Given the description of an element on the screen output the (x, y) to click on. 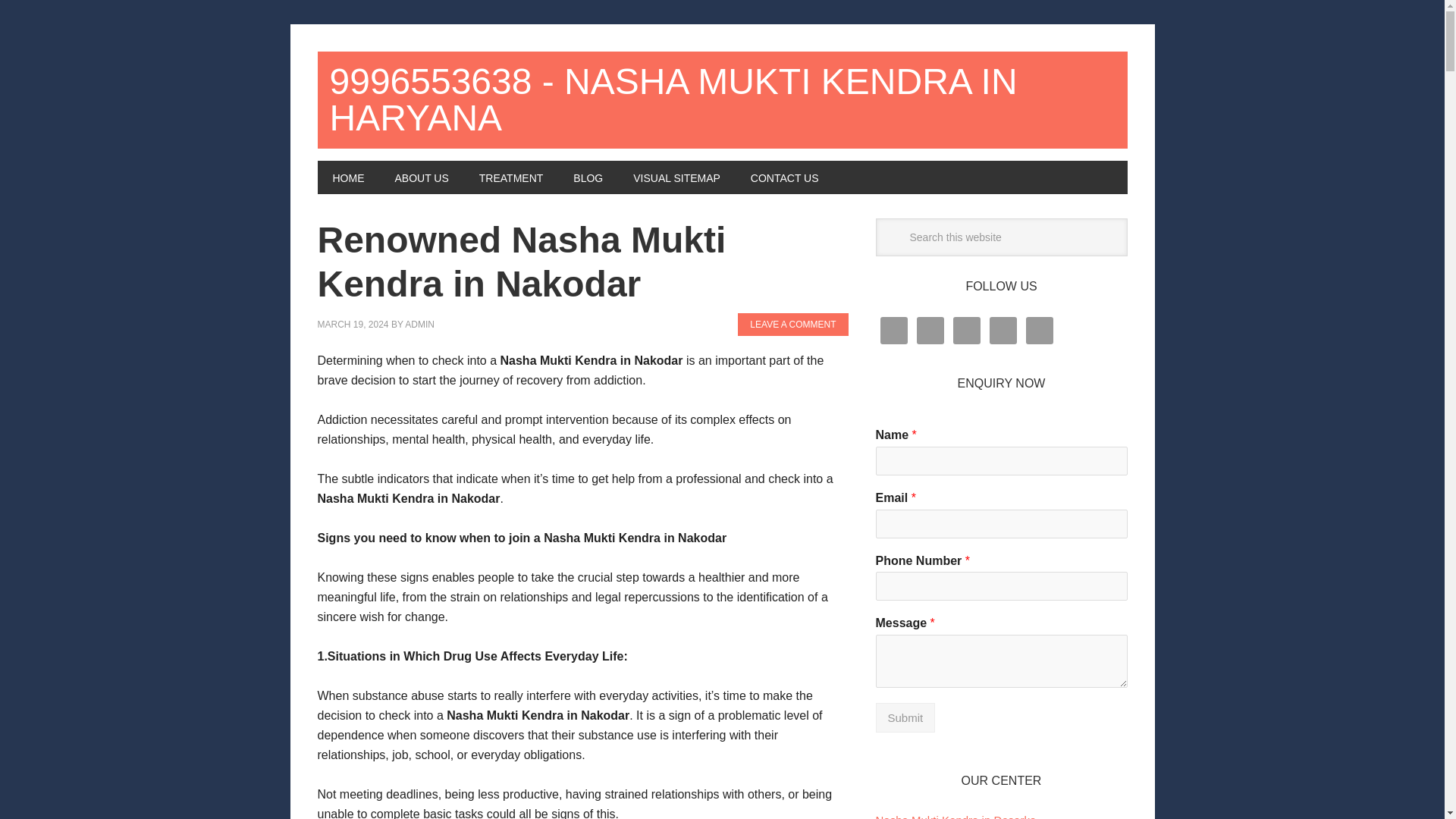
CONTACT US (784, 177)
HOME (347, 177)
BLOG (587, 177)
ADMIN (418, 324)
VISUAL SITEMAP (676, 177)
TREATMENT (511, 177)
9996553638 - NASHA MUKTI KENDRA IN HARYANA (721, 99)
LEAVE A COMMENT (792, 323)
ABOUT US (420, 177)
Submit (904, 717)
Nasha Mukti Kendra in Dosarka (955, 816)
